Given the description of an element on the screen output the (x, y) to click on. 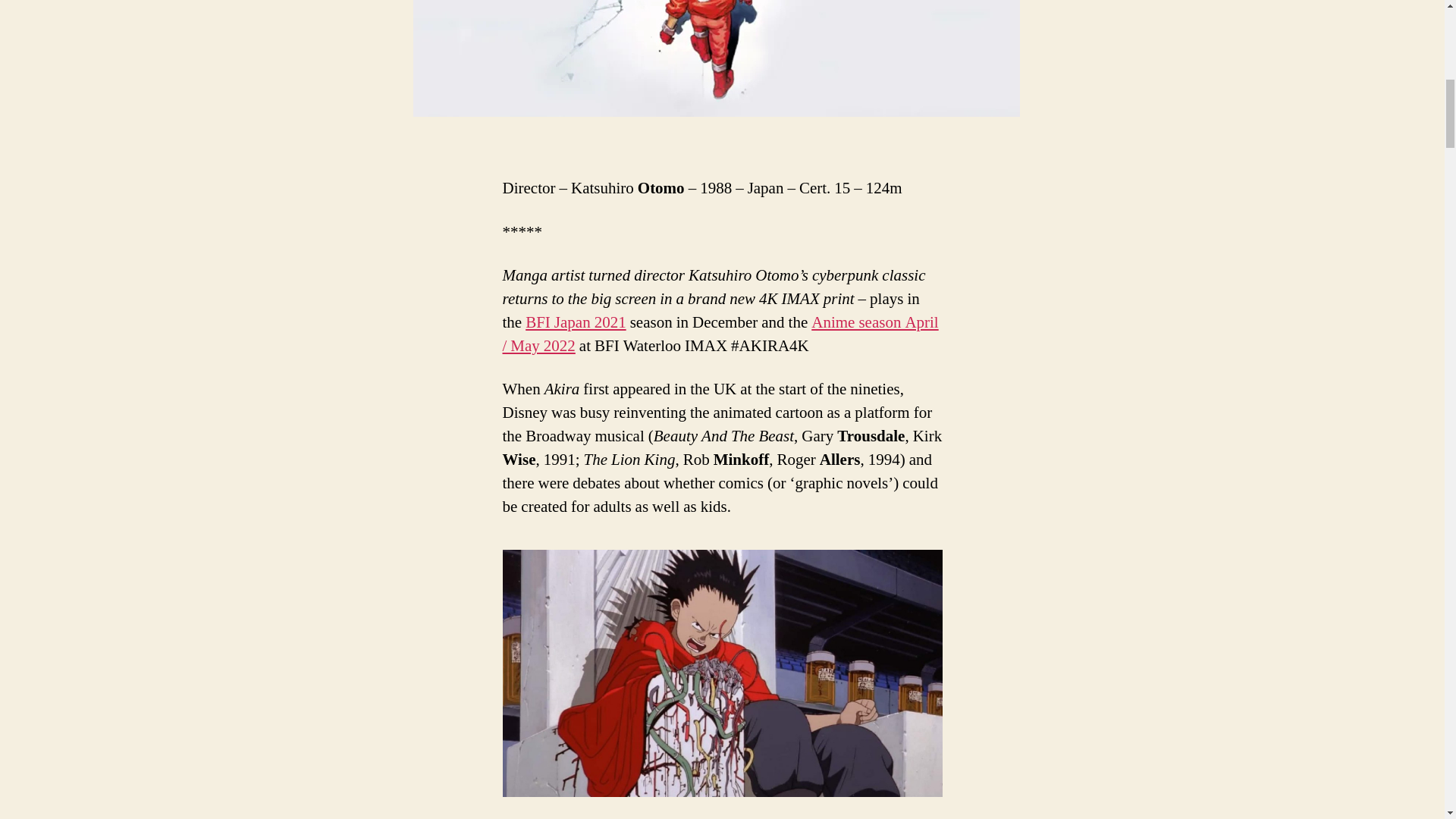
BFI Japan 2021 (575, 322)
